Given the description of an element on the screen output the (x, y) to click on. 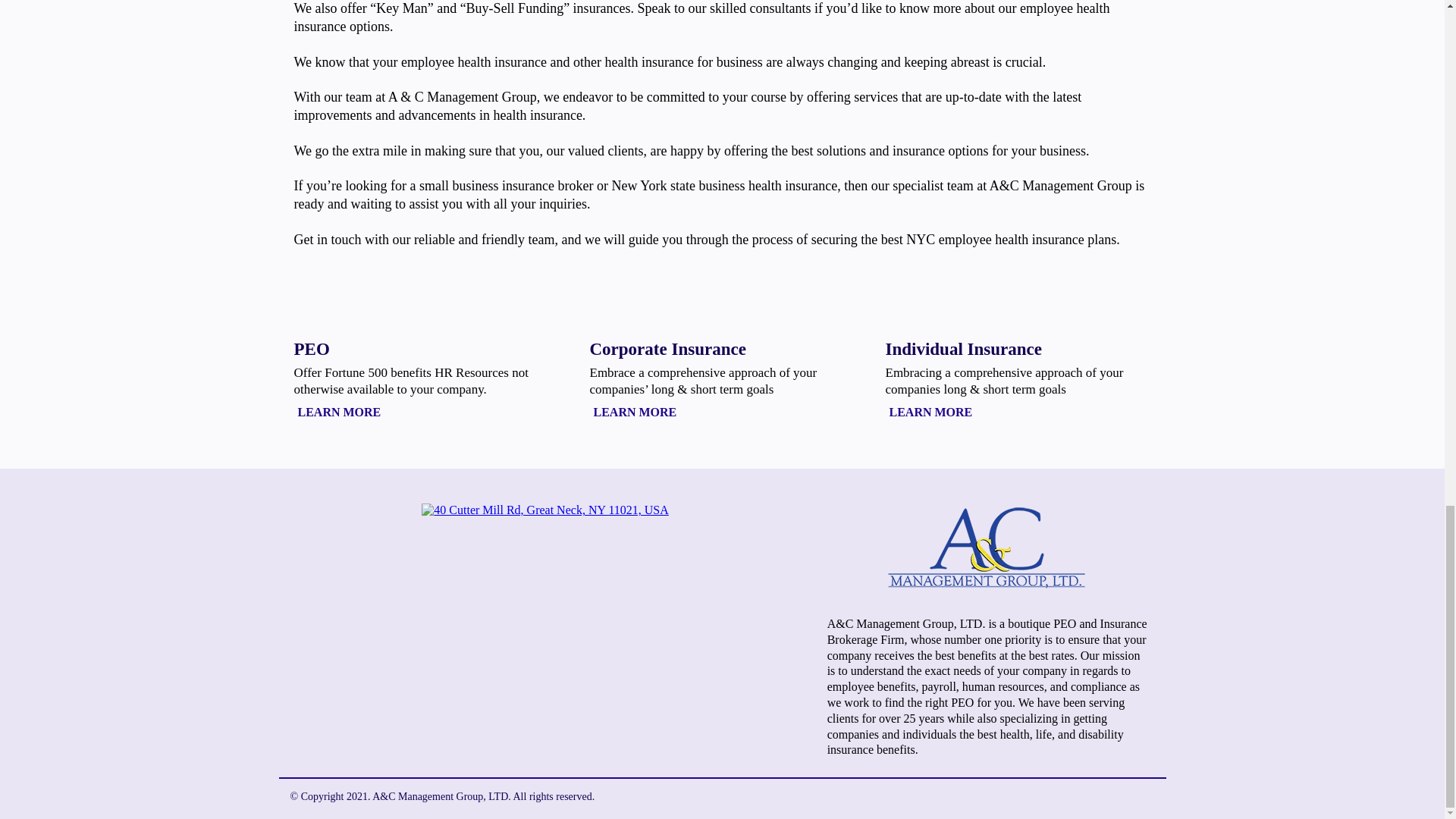
LEARN MORE (635, 412)
LEARN MORE (930, 412)
LEARN MORE (339, 412)
